Given the description of an element on the screen output the (x, y) to click on. 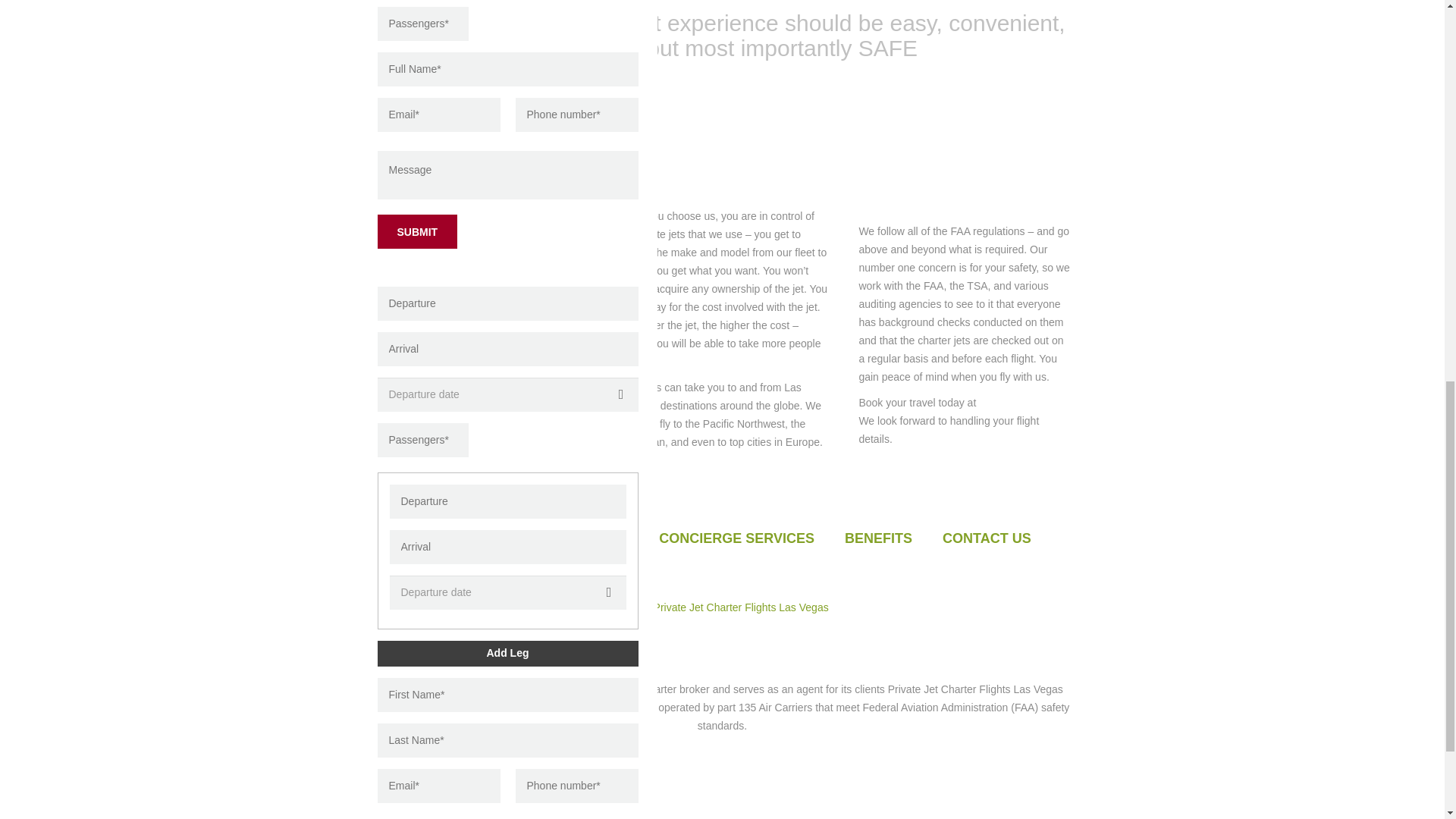
Submit (417, 231)
CHARTER FLEET (571, 538)
1.702.441.0705 (866, 589)
CONTACT US (986, 538)
Private Jet Charter Flights Las Vegas (740, 607)
ABS.Digital (795, 633)
ABOUT US (448, 538)
BENEFITS (878, 538)
CONCIERGE SERVICES (736, 538)
1.702.441.0705 (1015, 402)
Submit (417, 231)
WordPress website development (692, 633)
